Given the description of an element on the screen output the (x, y) to click on. 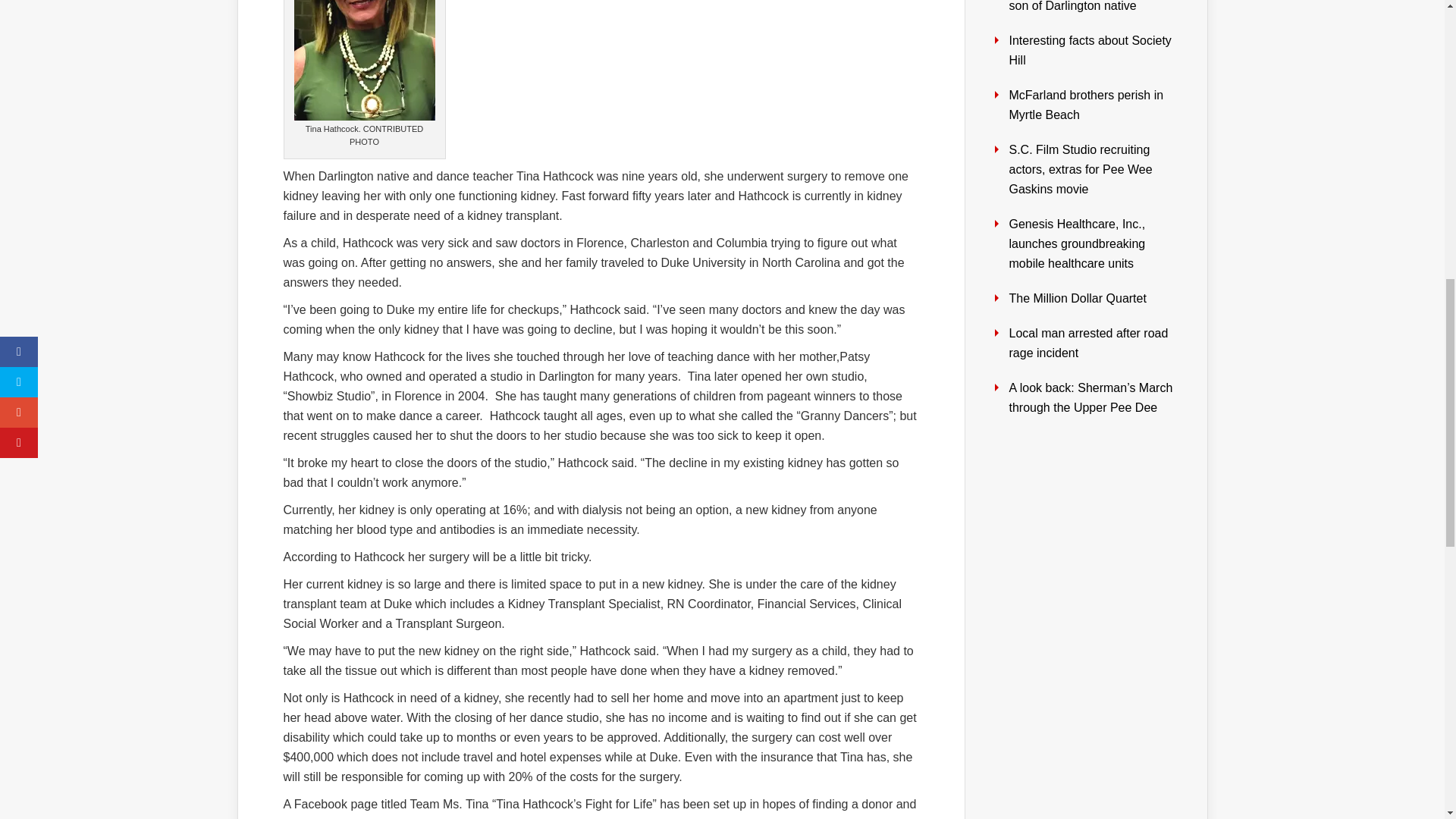
Interesting facts about Society Hill (1089, 50)
McFarland brothers perish in Myrtle Beach (1086, 104)
